Given the description of an element on the screen output the (x, y) to click on. 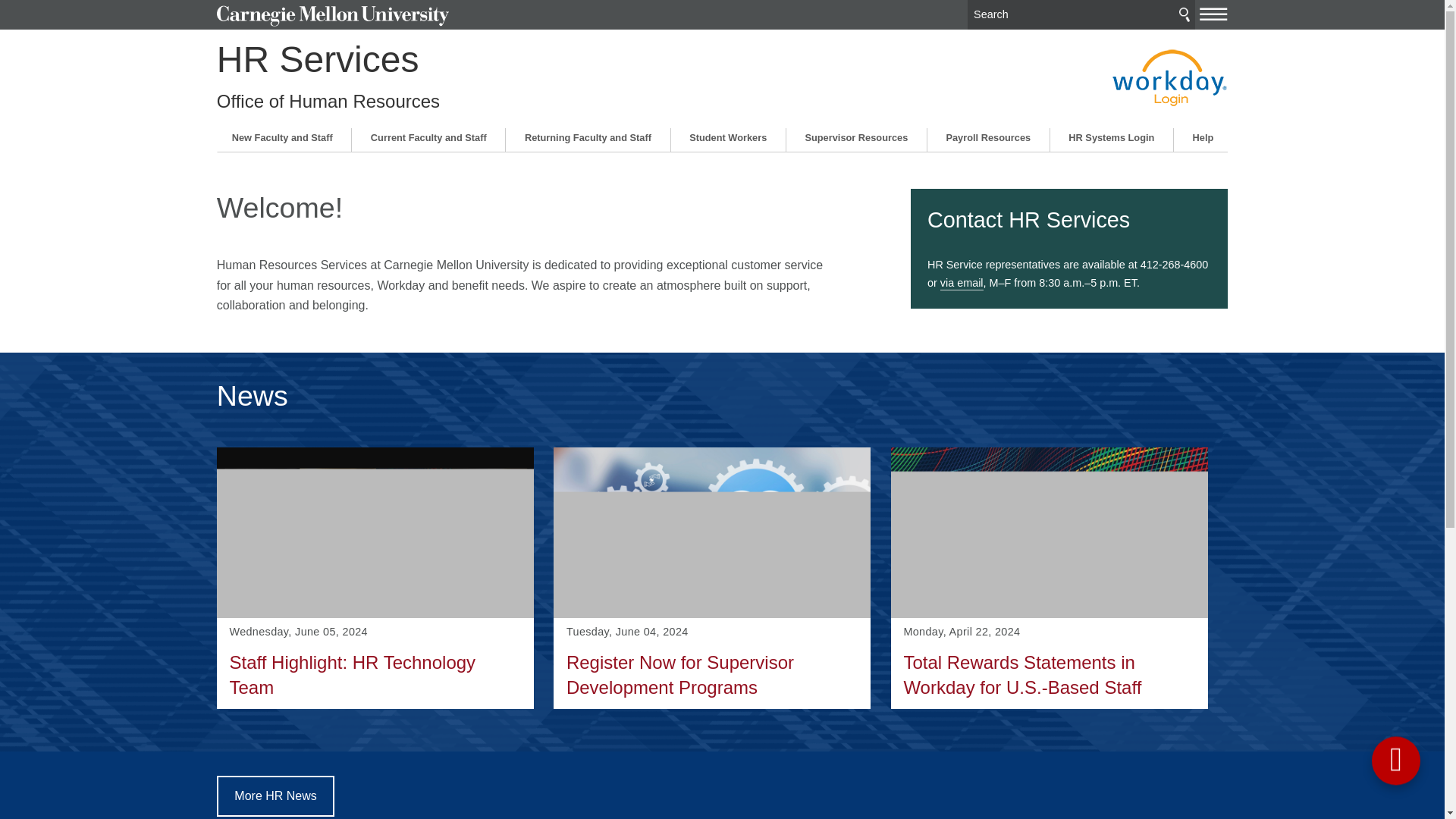
New Faculty and Staff (281, 137)
Office of Human Resources (327, 101)
via email (962, 283)
HR Services (317, 59)
Help (1202, 137)
Supervisor Resources (855, 137)
More HR News (275, 795)
Current Faculty and Staff (375, 578)
